Given the description of an element on the screen output the (x, y) to click on. 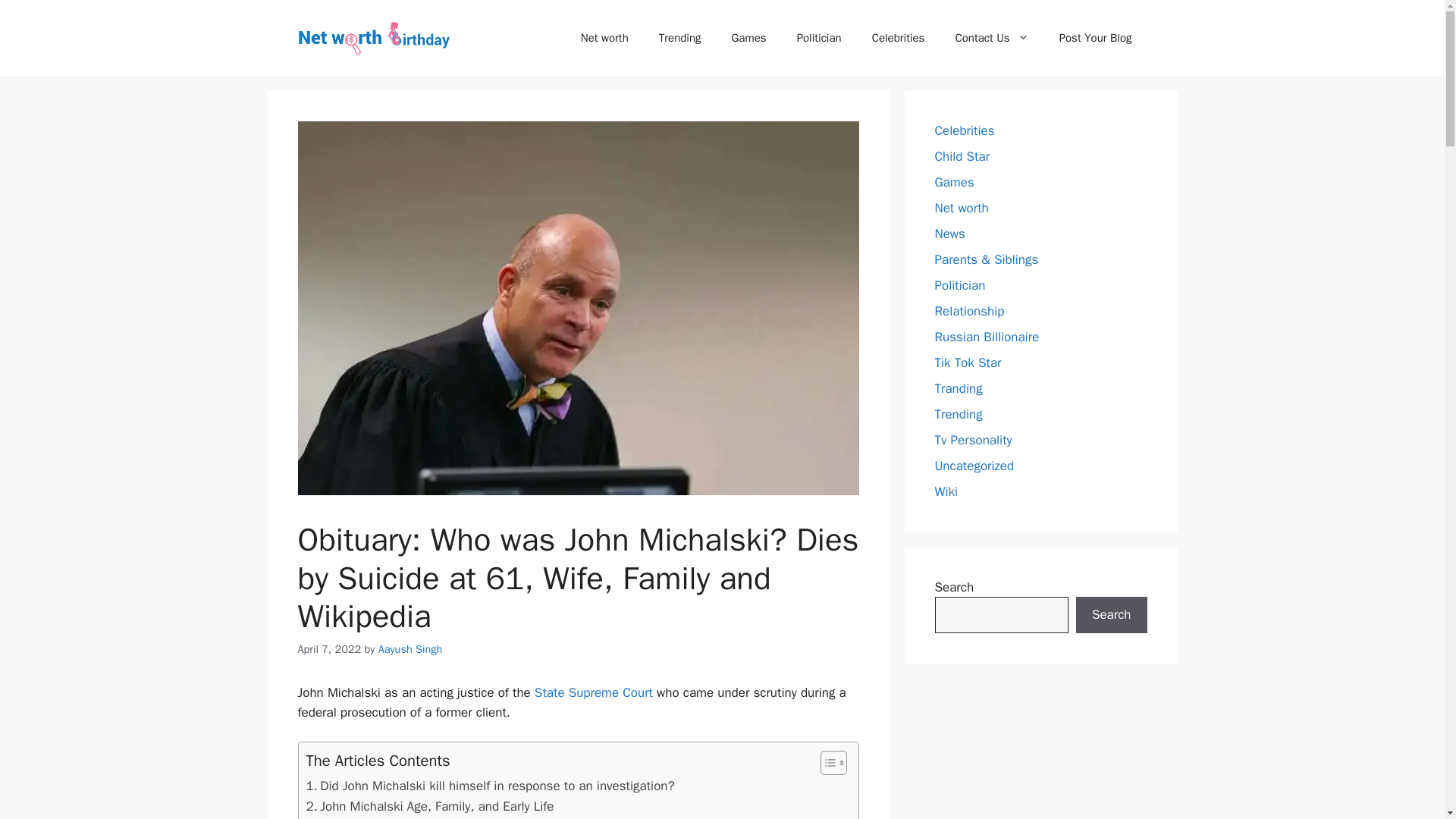
Contact Us (991, 37)
Aayush Singh (410, 649)
John Michalski Age, Family, and Early Life (429, 806)
State Supreme Court (593, 692)
Games (748, 37)
Politician (819, 37)
Celebrities (898, 37)
Post Your Blog (1095, 37)
Net worth (604, 37)
Trending (679, 37)
View all posts by Aayush Singh (410, 649)
